Given the description of an element on the screen output the (x, y) to click on. 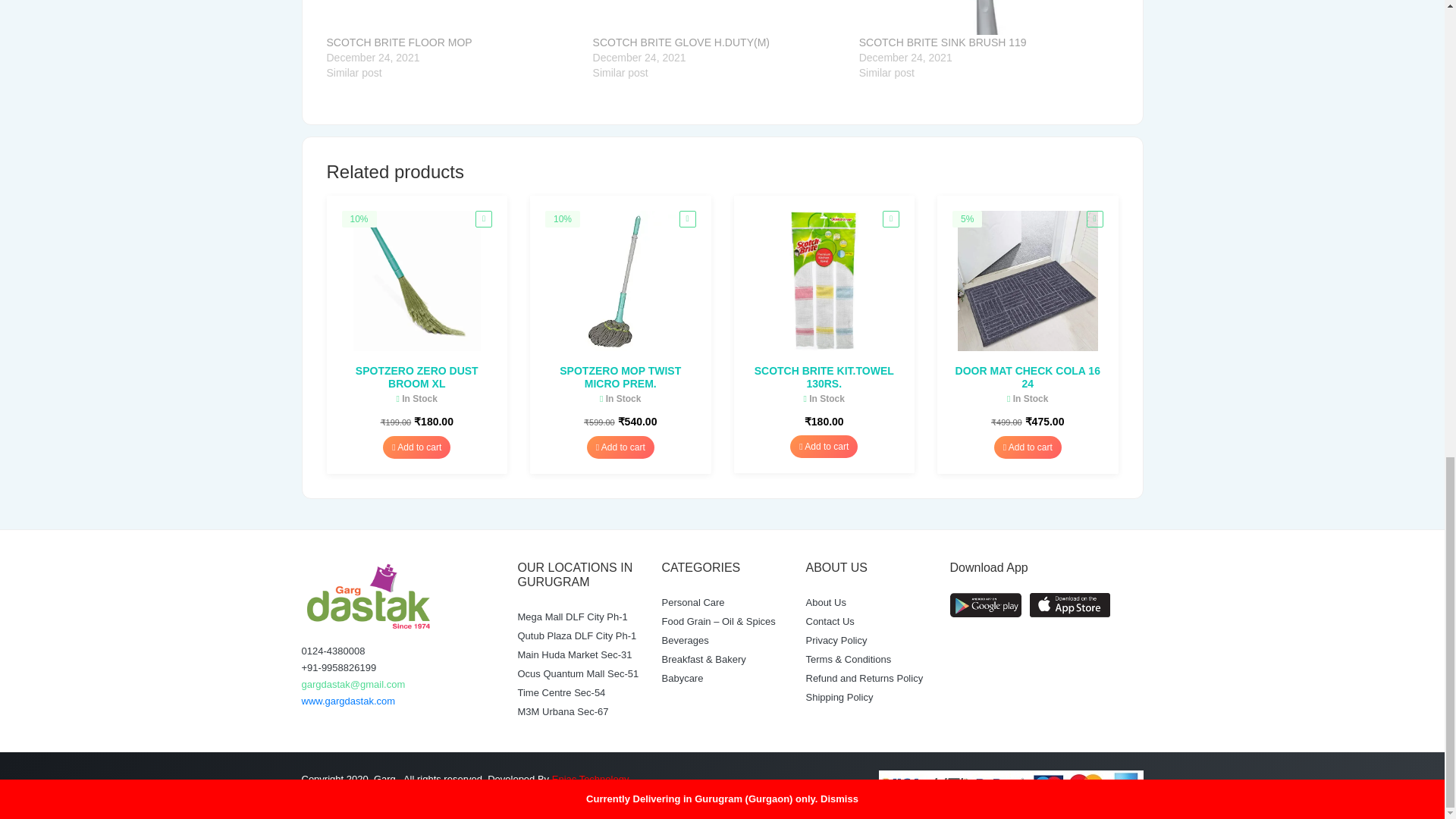
SCOTCH BRITE SINK BRUSH 119 (984, 17)
SCOTCH BRITE SINK BRUSH 119 (942, 42)
SCOTCH BRITE FLOOR MOP (398, 42)
SCOTCH BRITE FLOOR MOP (451, 17)
